Given the description of an element on the screen output the (x, y) to click on. 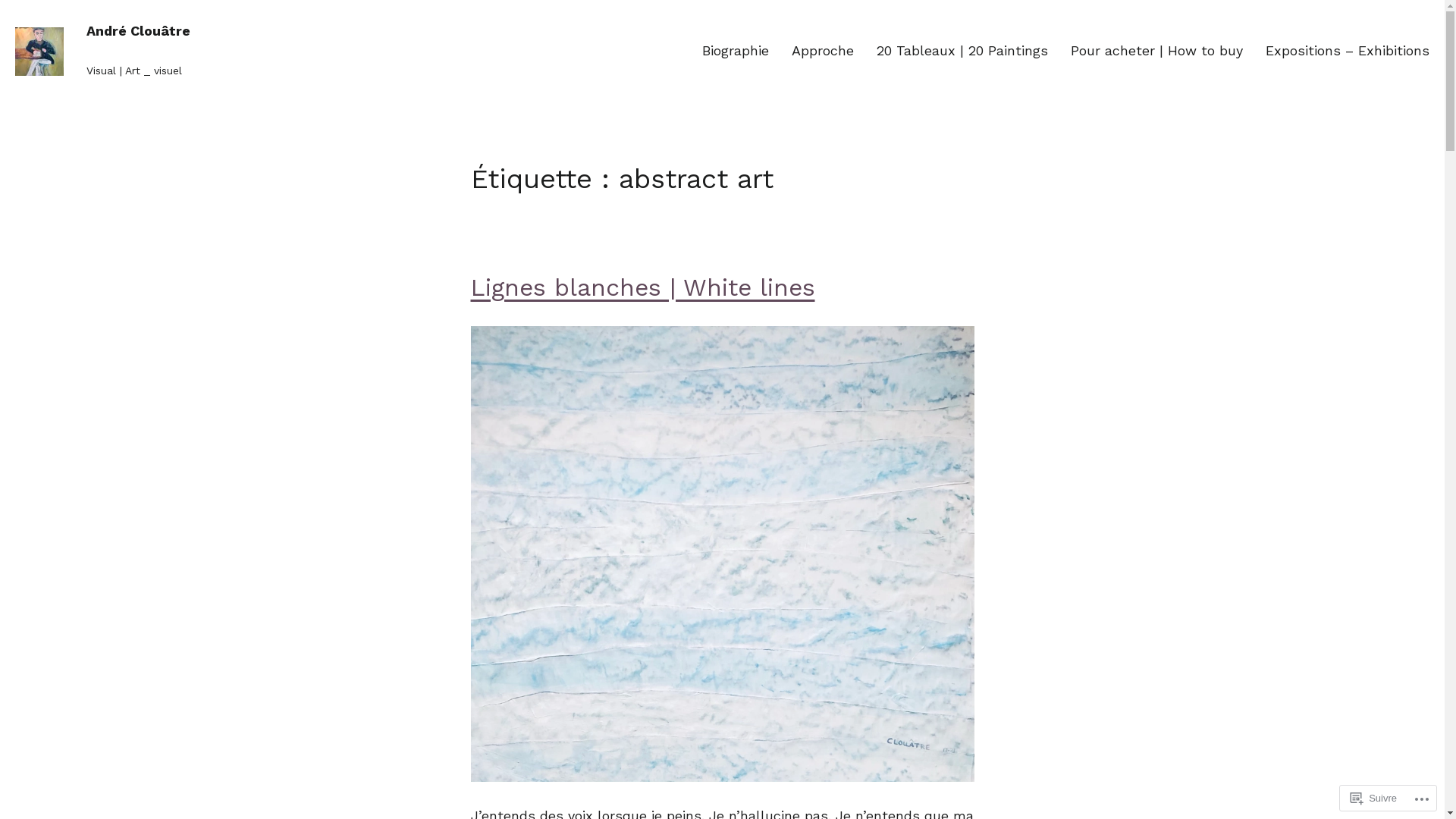
Lignes blanches | White lines Element type: text (642, 288)
Suivre Element type: text (1373, 797)
Approche Element type: text (822, 50)
Pour acheter | How to buy Element type: text (1156, 50)
20 Tableaux | 20 Paintings Element type: text (962, 50)
Biographie Element type: text (735, 50)
